Given the description of an element on the screen output the (x, y) to click on. 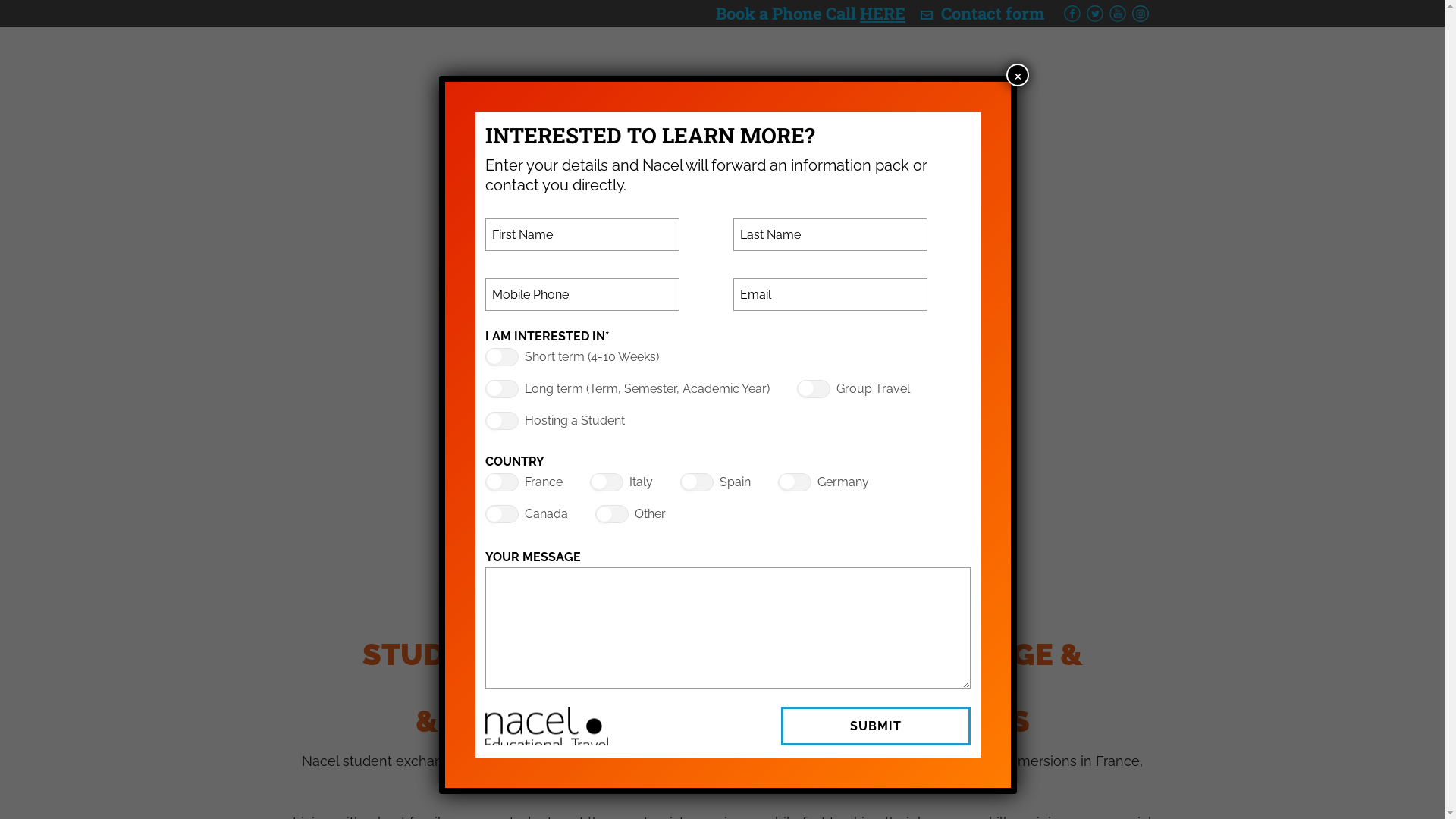
Contact form Element type: text (992, 13)
Travel, Live Learn Element type: hover (372, 63)
GROUP TRAVEL Element type: text (984, 82)
CONTACT Element type: text (1123, 82)
Book a Phone Call HERE Element type: text (810, 13)
LANGUAGE & CULTURAL PROGRAMS Element type: text (739, 82)
Submit Element type: text (875, 725)
HOST A STUDENT Element type: text (873, 82)
ABOUT Element type: text (634, 82)
